Given the description of an element on the screen output the (x, y) to click on. 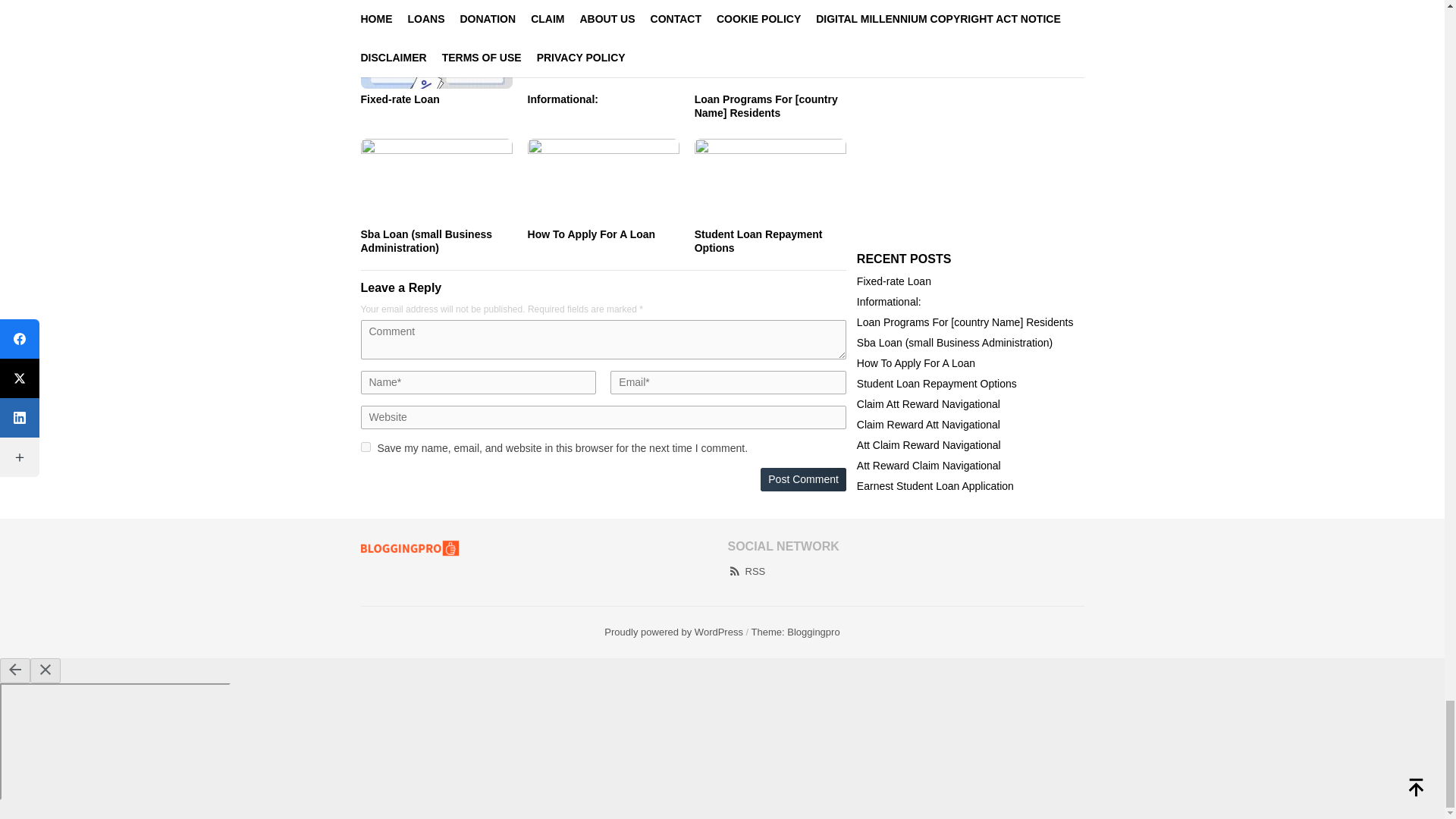
yes (366, 447)
Post Comment (802, 479)
